Given the description of an element on the screen output the (x, y) to click on. 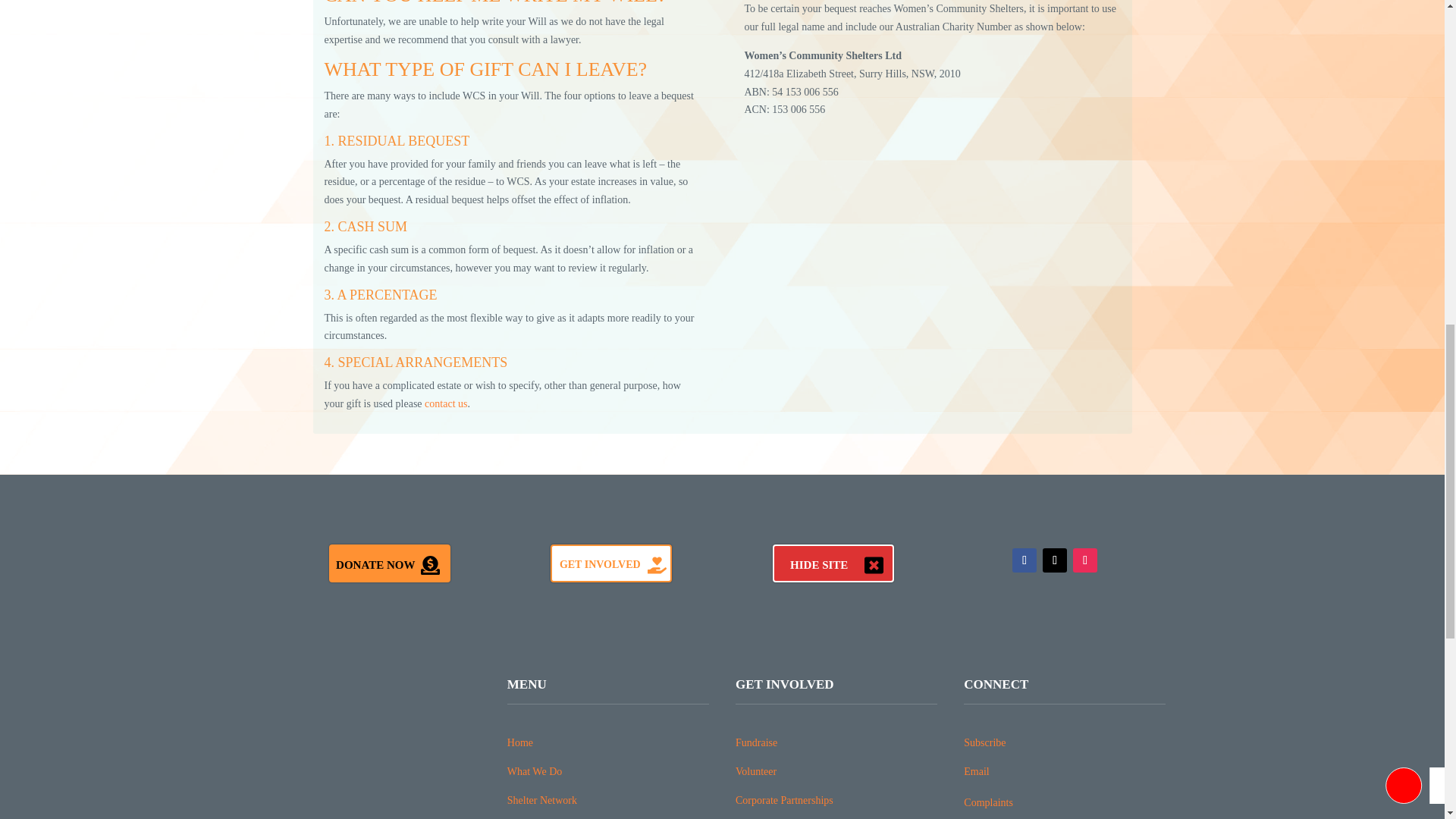
What Do We Do? (534, 771)
Home page (519, 742)
Subscribe (984, 742)
Corporate Partnerships with WCS (783, 799)
Follow on X (1054, 559)
Fundraise for WCS (756, 742)
Follow on Facebook (1023, 559)
Follow on Instagram (1085, 559)
Volunteer for WCS (755, 771)
